Given the description of an element on the screen output the (x, y) to click on. 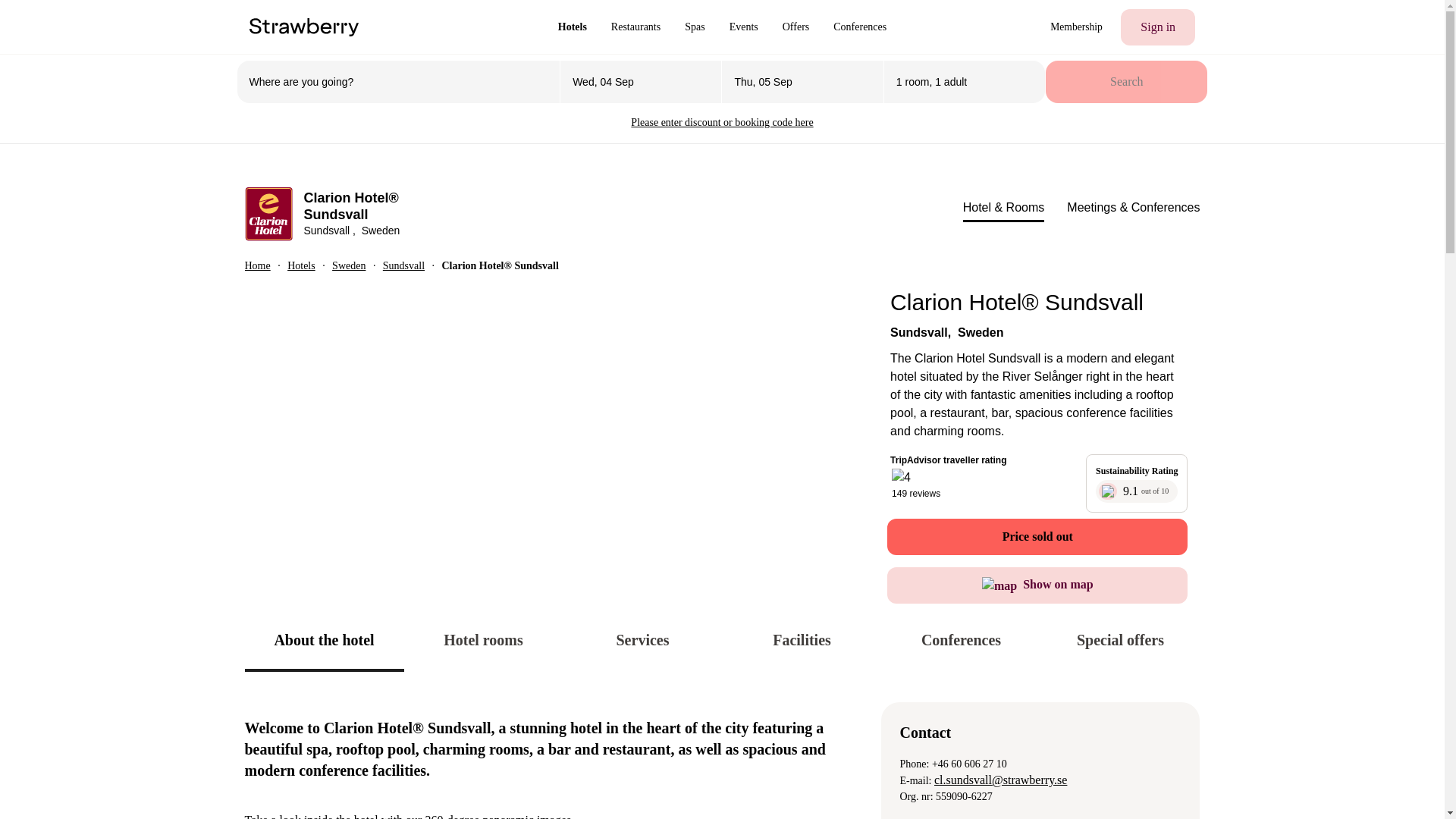
Restaurants (635, 27)
Conferences (859, 27)
Spas (694, 27)
Hotels (572, 27)
Offers (796, 27)
Events (743, 27)
Membership (1076, 27)
Sign in (1158, 27)
Hotels (572, 27)
Membership (1076, 27)
